Given the description of an element on the screen output the (x, y) to click on. 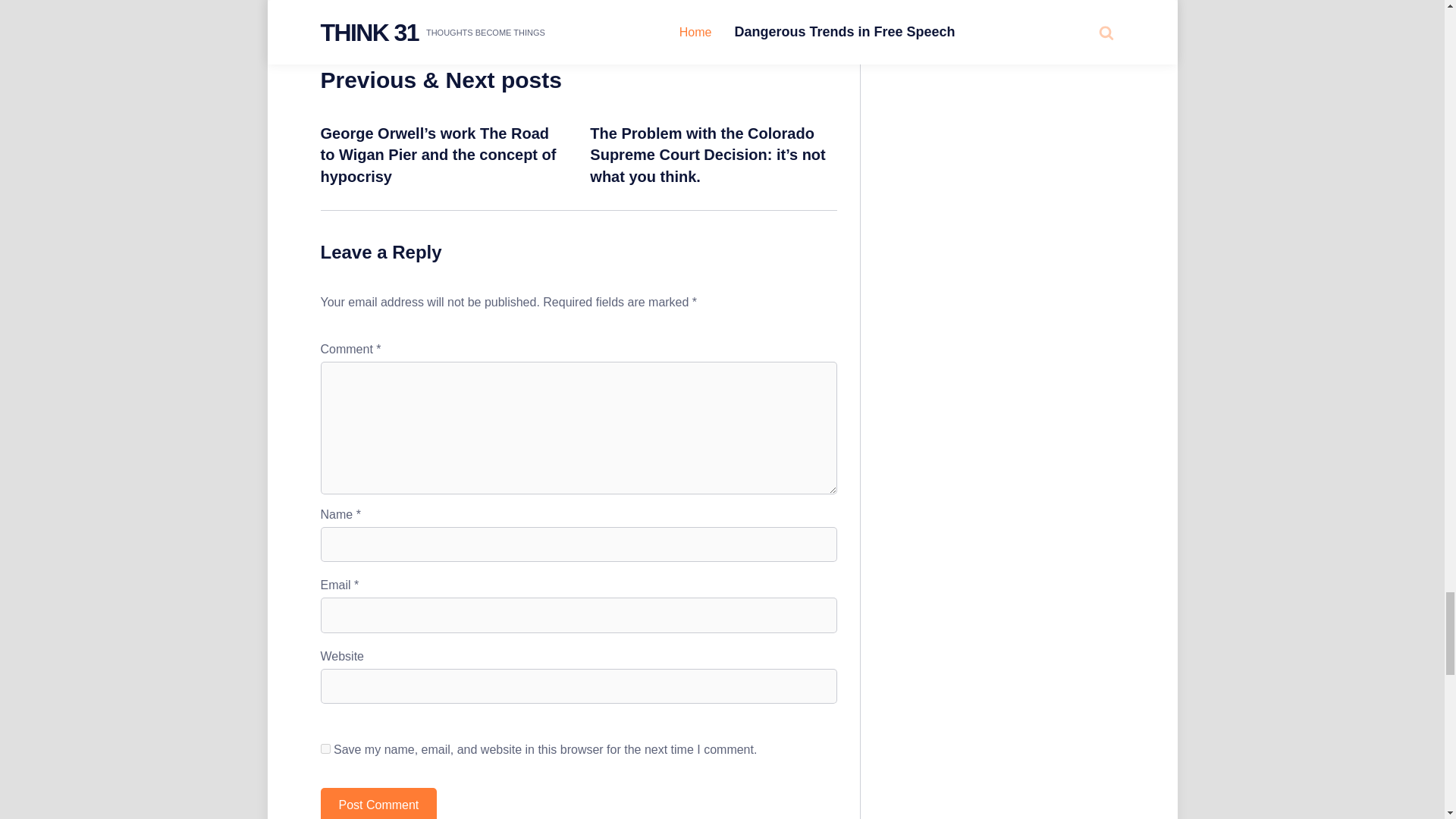
Post Comment (378, 803)
yes (325, 748)
